Given the description of an element on the screen output the (x, y) to click on. 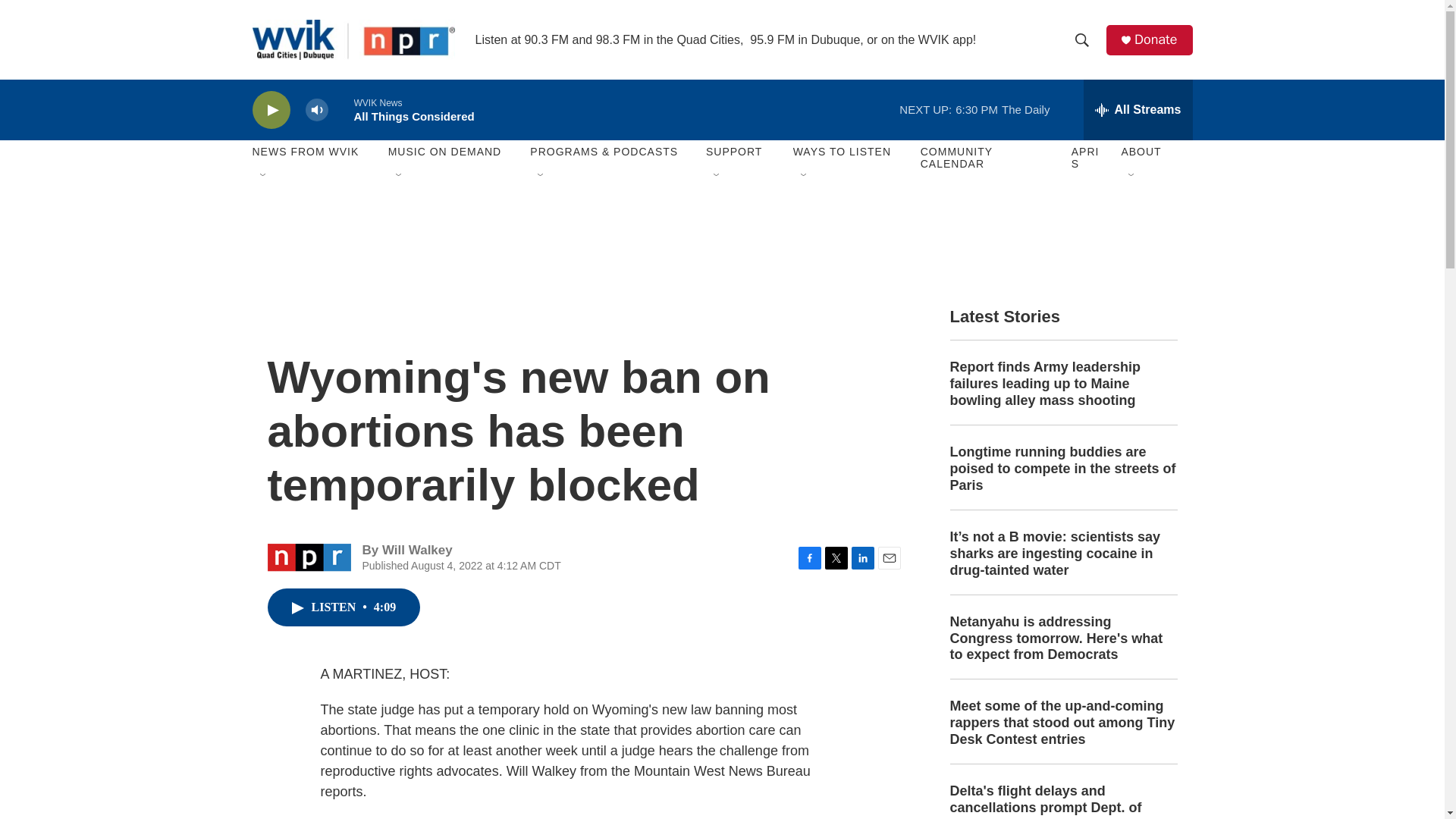
3rd party ad content (721, 225)
